Given the description of an element on the screen output the (x, y) to click on. 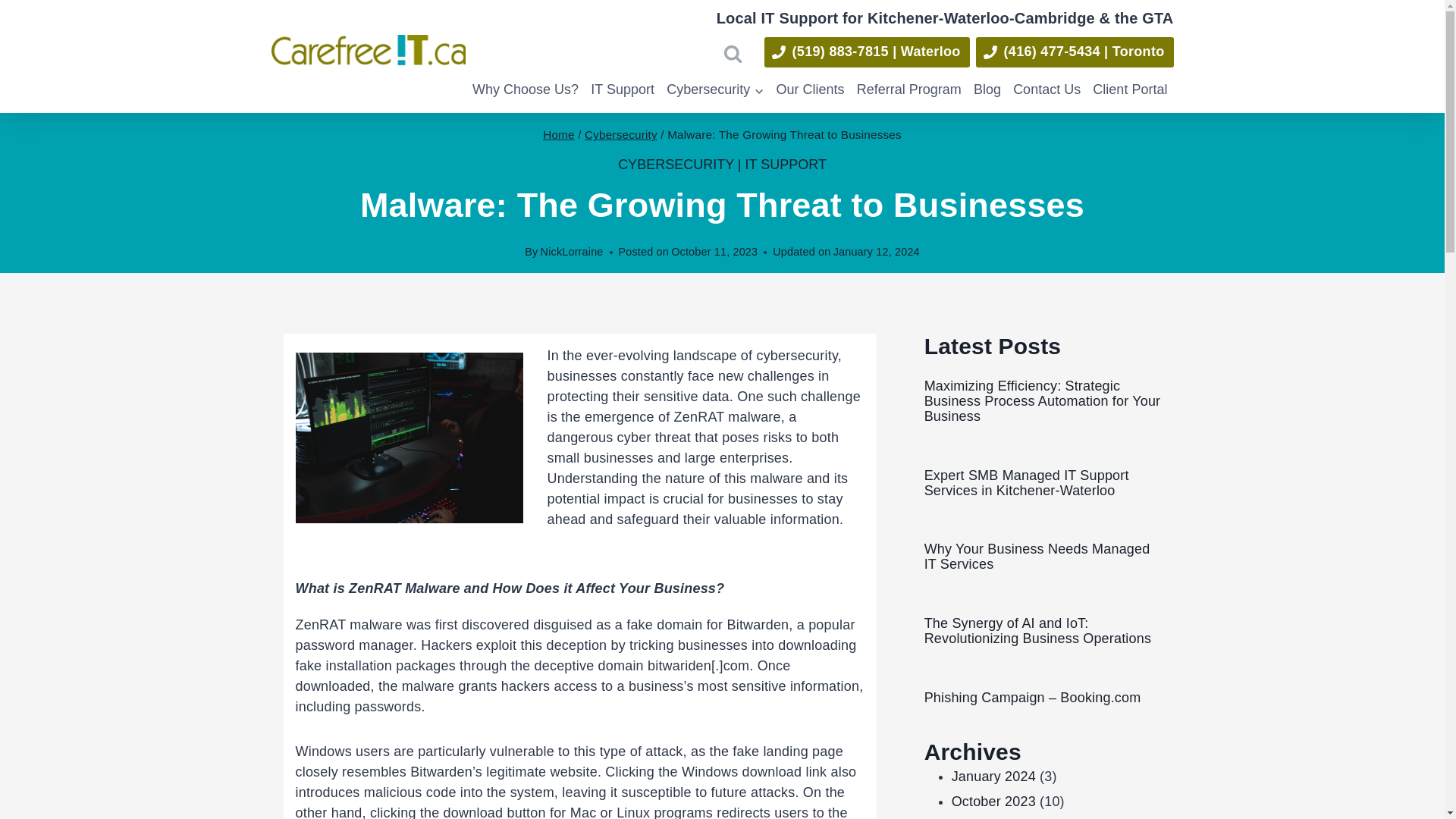
Contact Us (1046, 89)
IT Support (623, 89)
CYBERSECURITY (675, 164)
Client Portal (1129, 89)
Our Clients (810, 89)
Cybersecurity (621, 133)
Home (559, 133)
IT SUPPORT (786, 164)
NickLorraine (572, 251)
Blog (987, 89)
Referral Program (909, 89)
Why Choose Us? (525, 89)
Cybersecurity (715, 89)
